Given the description of an element on the screen output the (x, y) to click on. 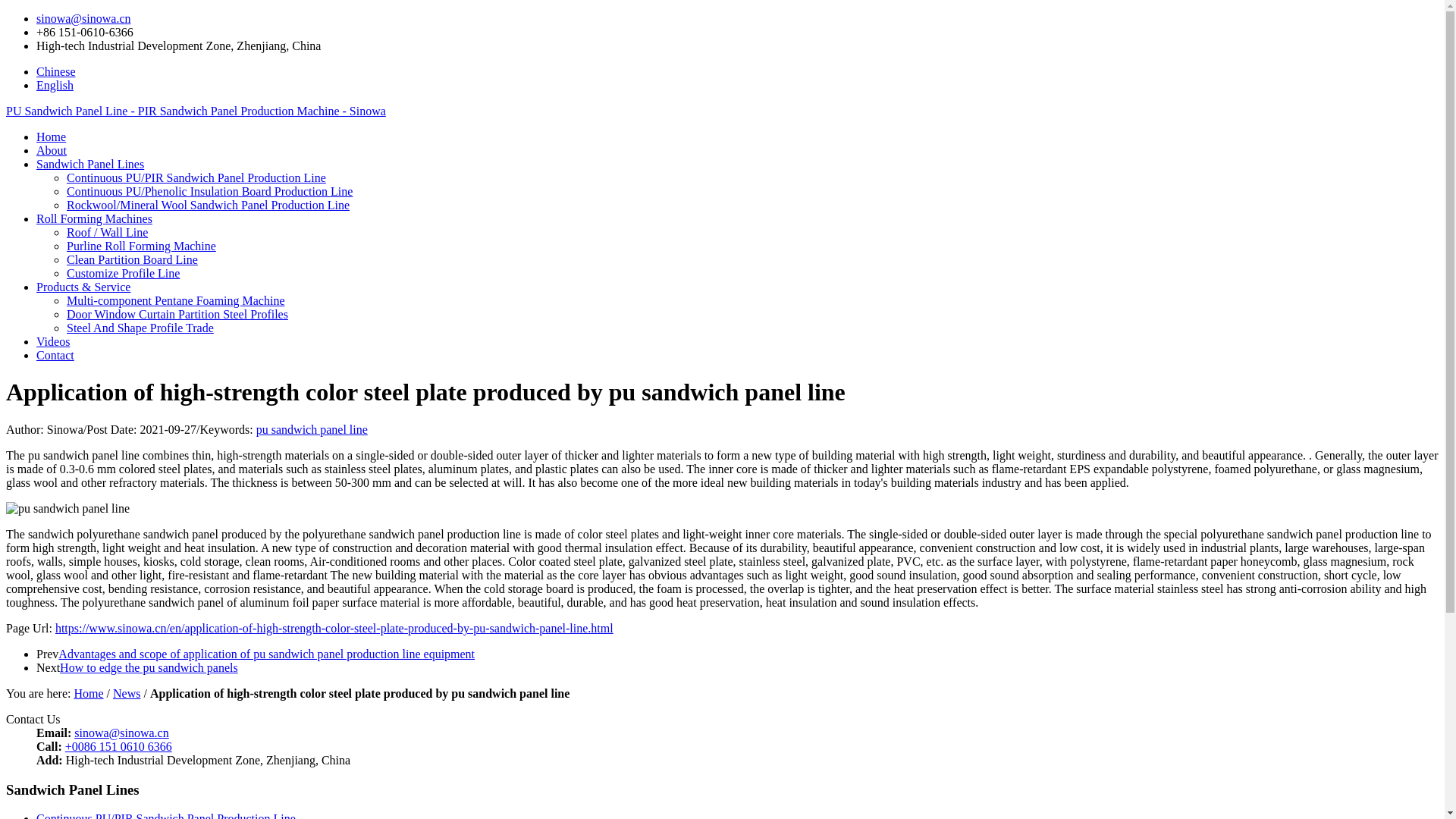
Purline Roll Forming Machine (140, 245)
Contact (55, 354)
Chinese (55, 71)
Door Window Curtain Partition Steel Profiles (177, 314)
pu sandwich panel line (312, 429)
About (51, 150)
Steel And Shape Profile Trade (140, 327)
Clean Partition Board Line (132, 259)
